Given the description of an element on the screen output the (x, y) to click on. 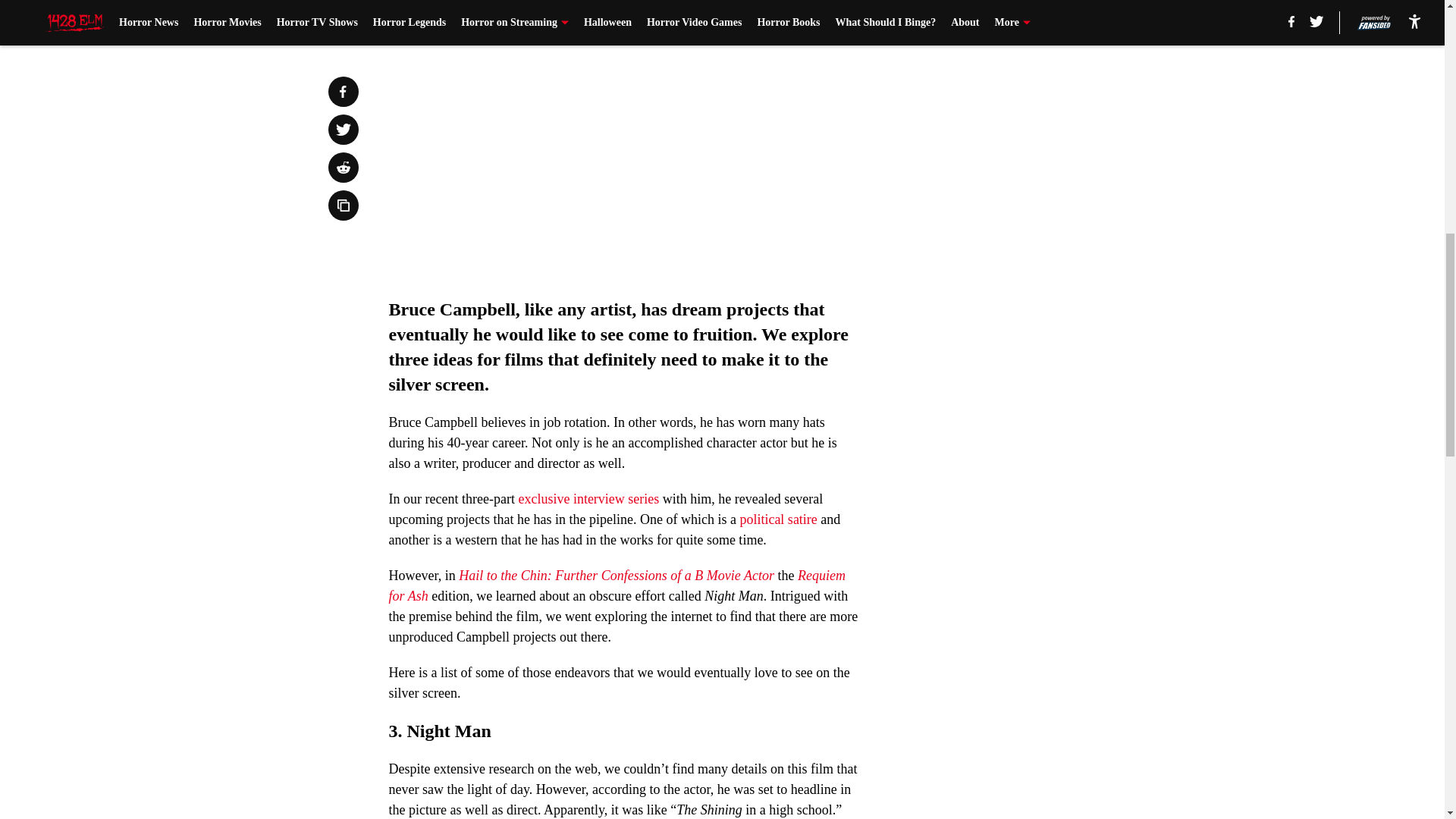
Requiem for Ash (616, 585)
exclusive interview series (588, 498)
Hail to the Chin: Further Confessions of a B Movie Actor (617, 575)
political satire (777, 519)
